Given the description of an element on the screen output the (x, y) to click on. 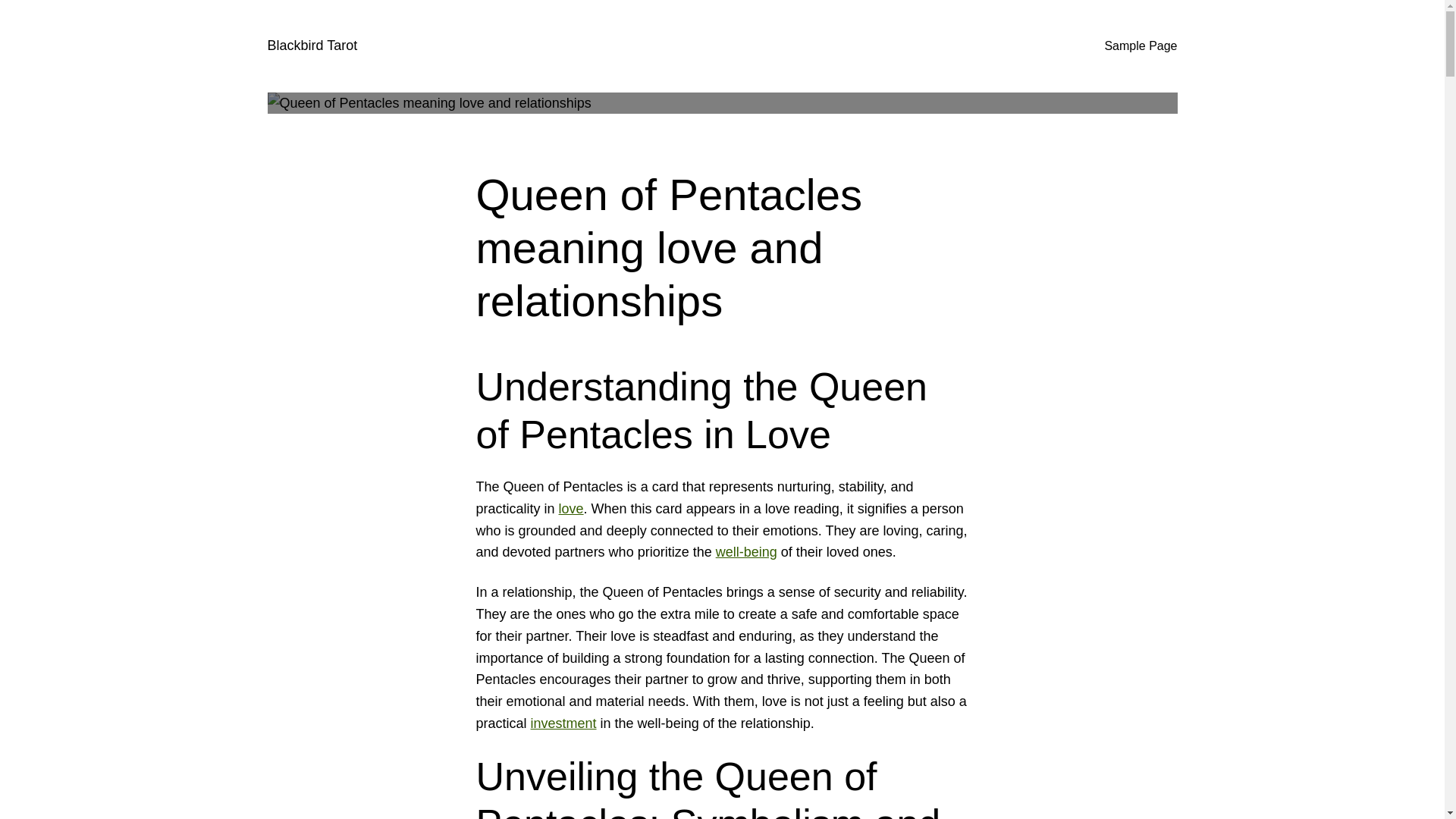
Blackbird Tarot (311, 45)
Love Posts (571, 508)
Sample Page (1139, 46)
love (571, 508)
All Well-being Posts (746, 551)
investment (563, 723)
Investment Posts (563, 723)
well-being (746, 551)
